Given the description of an element on the screen output the (x, y) to click on. 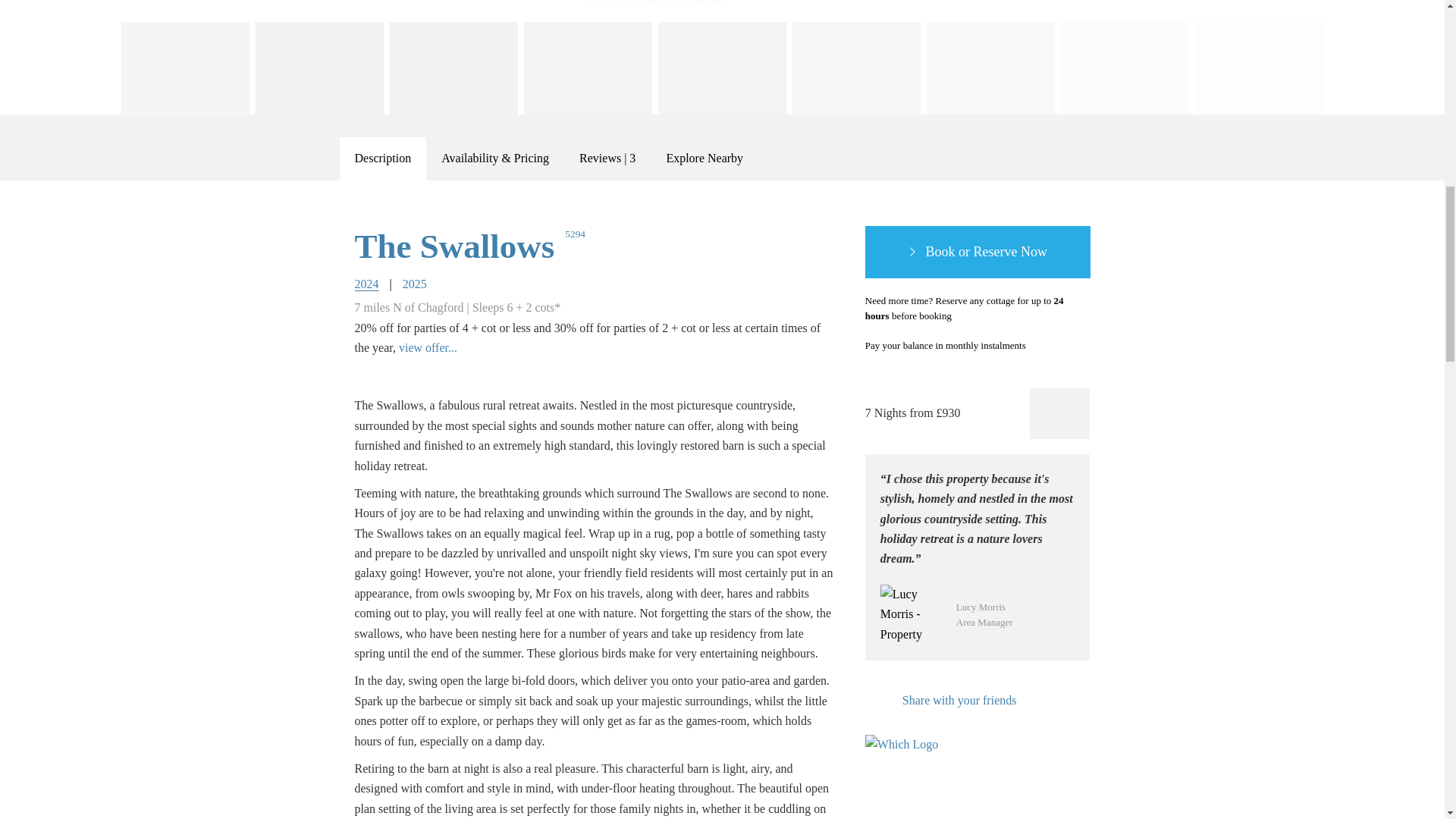
Explore Nearby (704, 158)
Description (382, 158)
view offer... (427, 347)
Classic Cottages is a Which? Recommended Provider (908, 763)
Part Payment Information (1042, 345)
Share with your friends (940, 700)
Book or Reserve (977, 252)
2025 (414, 283)
2024 (366, 284)
